Given the description of an element on the screen output the (x, y) to click on. 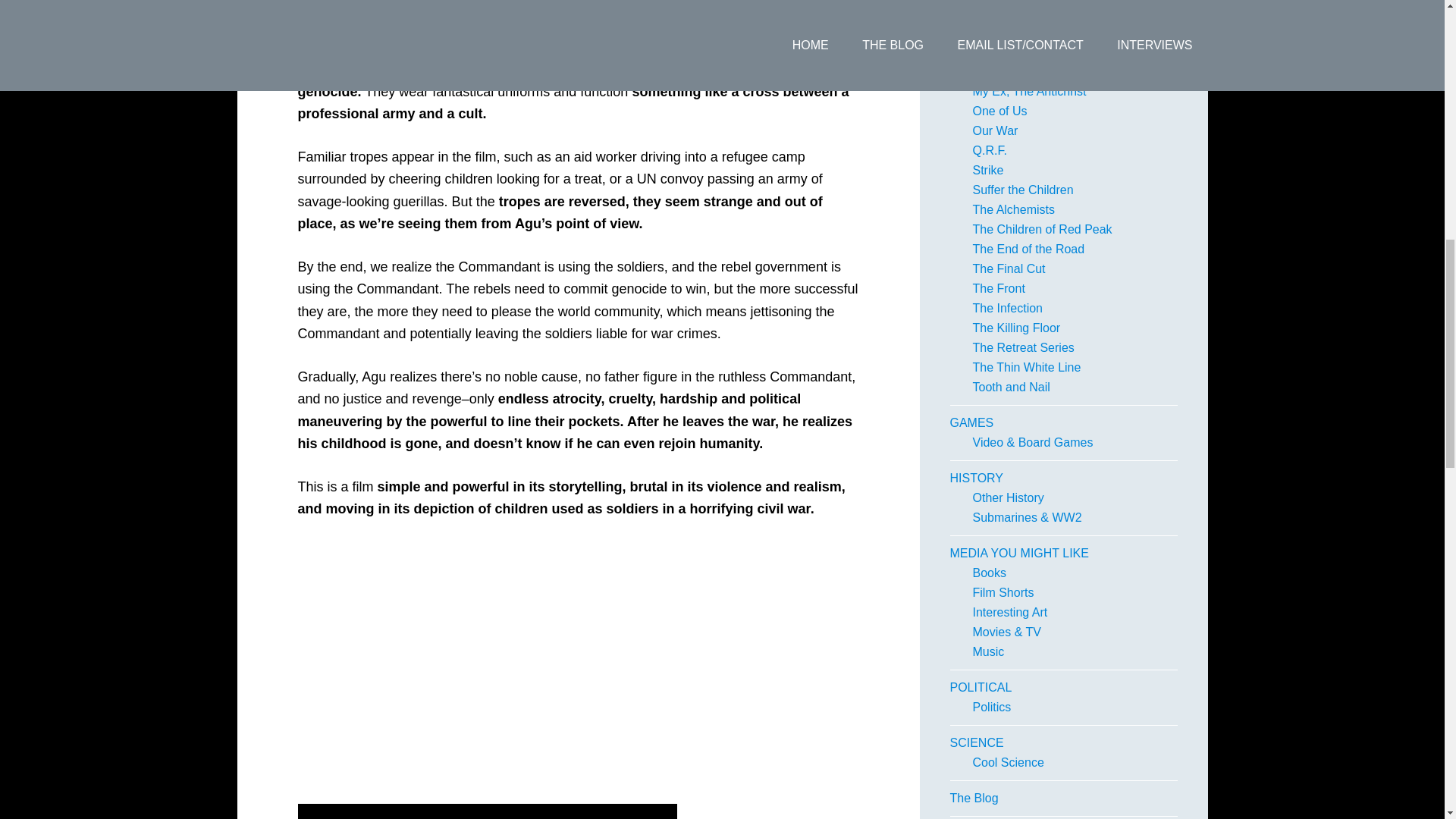
Episode Thirteen (1018, 31)
Djinn (985, 11)
How to Make a Horror Movie and Survive (1061, 61)
My Ex, The Antichrist (1029, 91)
One of Us (999, 110)
